Given the description of an element on the screen output the (x, y) to click on. 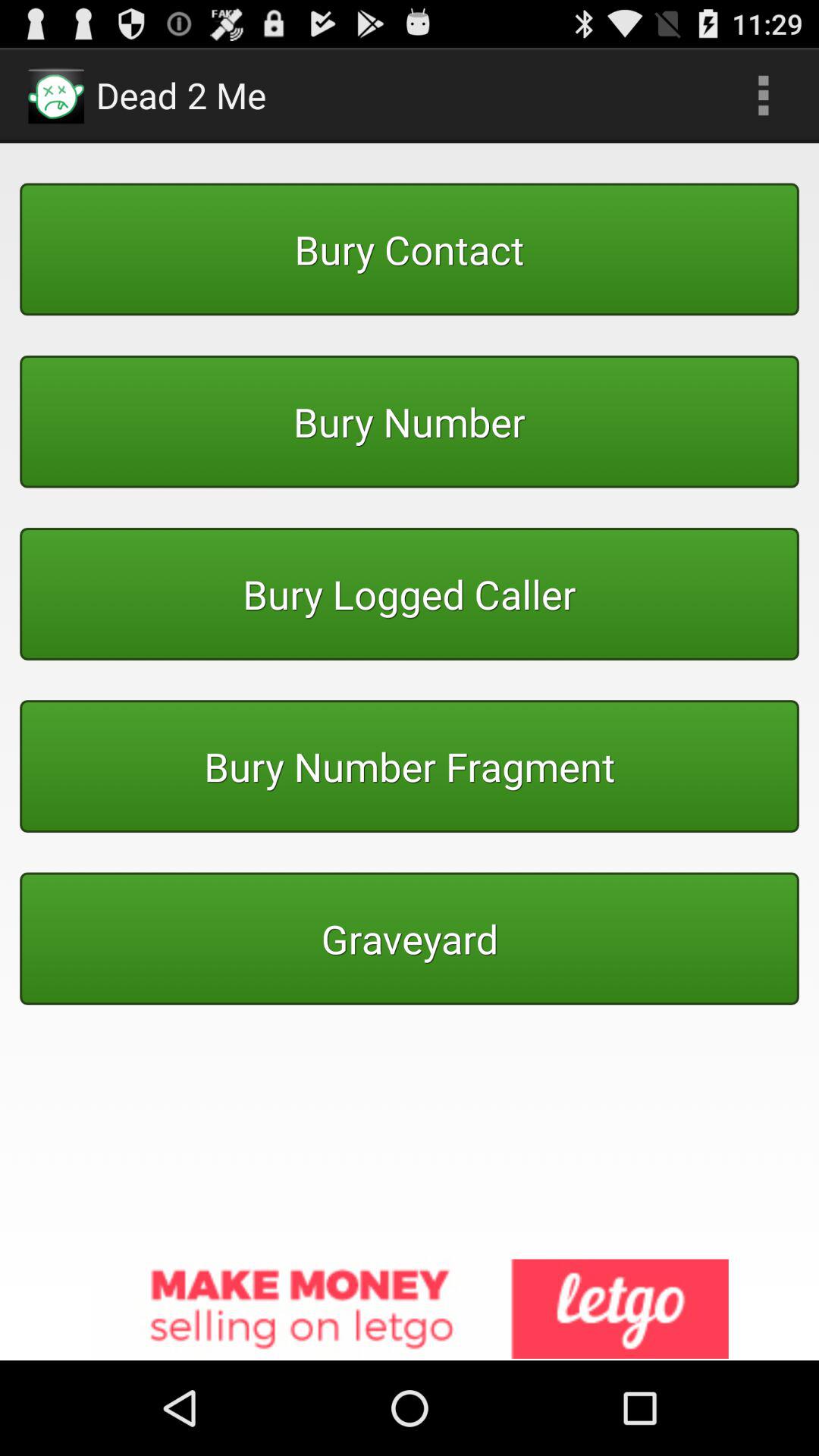
open advertisement (409, 1309)
